Given the description of an element on the screen output the (x, y) to click on. 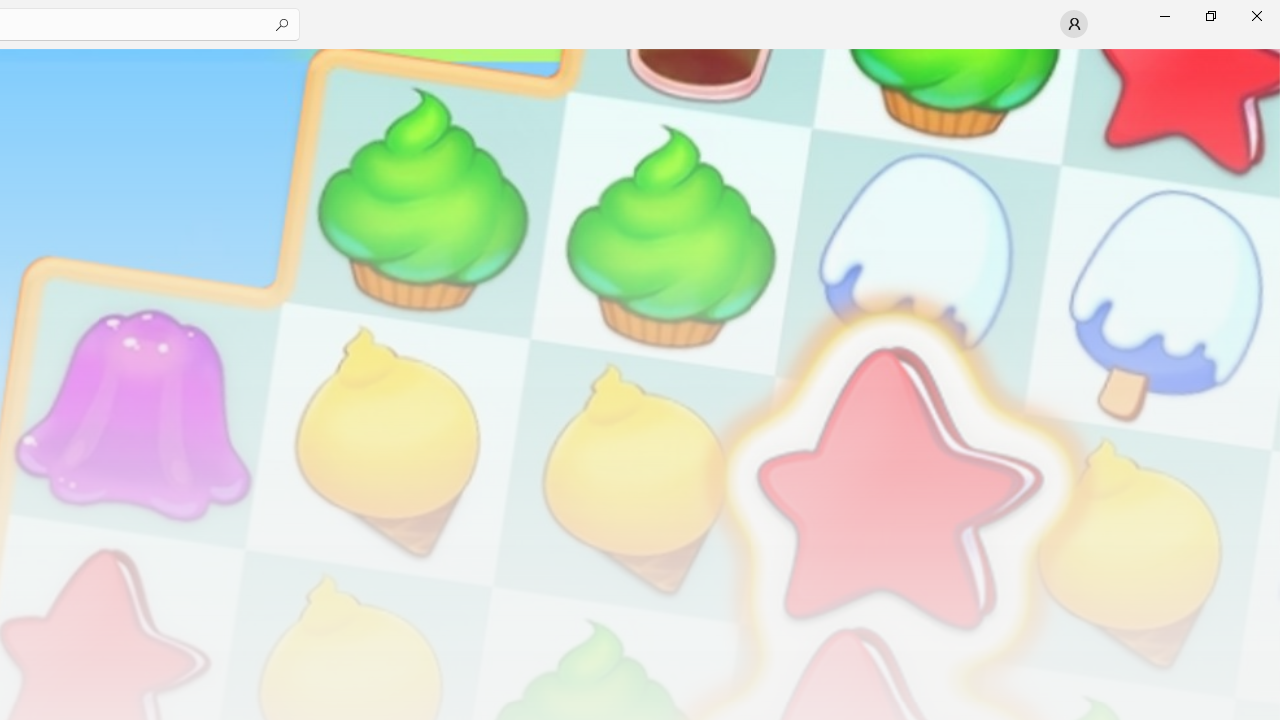
User profile (1073, 24)
Close Microsoft Store (1256, 15)
Restore Microsoft Store (1210, 15)
Minimize Microsoft Store (1164, 15)
